Given the description of an element on the screen output the (x, y) to click on. 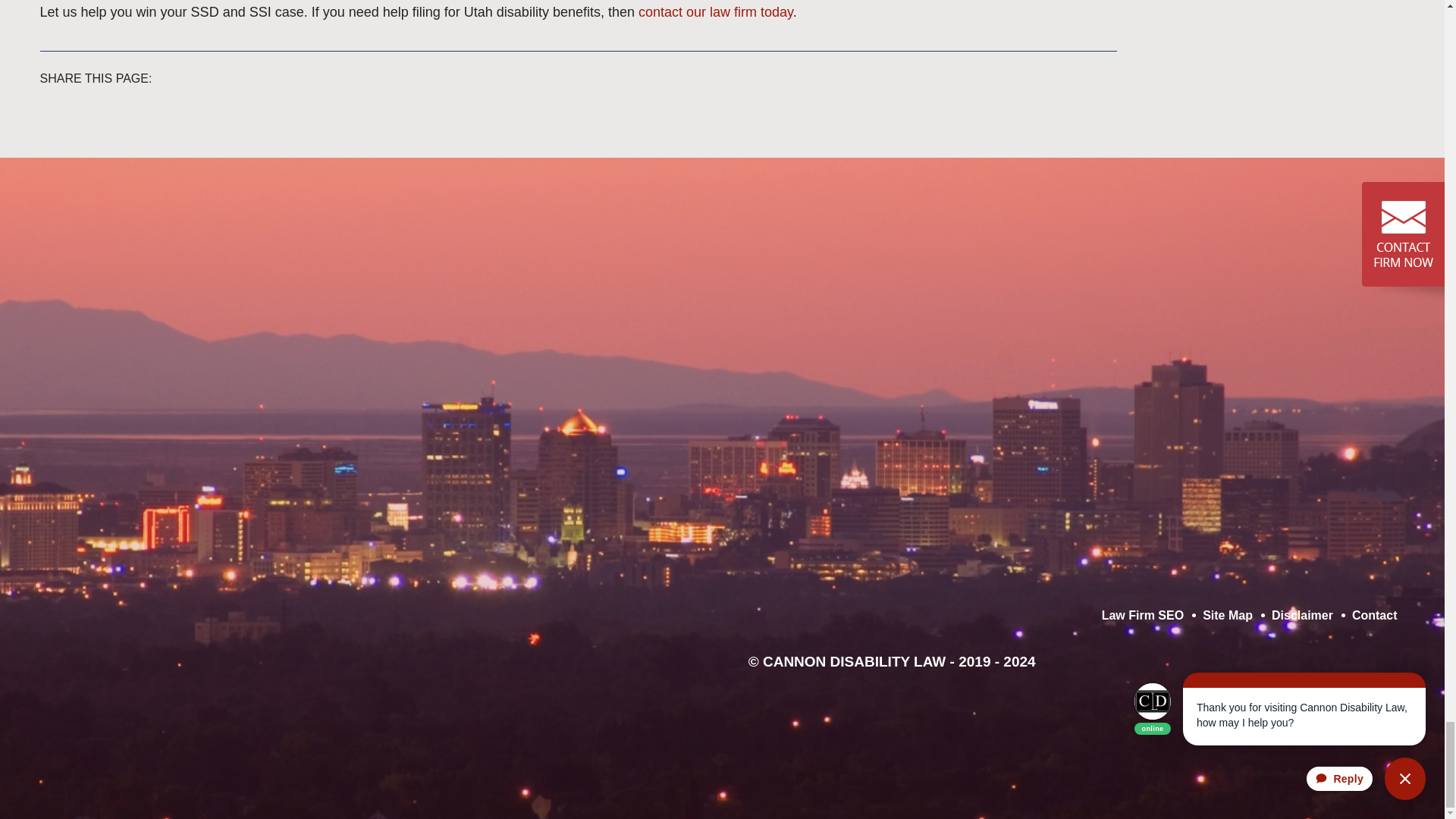
Twitter (287, 76)
Facebook (156, 663)
Twitter (168, 664)
youtube (472, 618)
LinkedIn (178, 664)
LinkedIn (298, 76)
Facebook (276, 76)
pinterest (241, 618)
